Given the description of an element on the screen output the (x, y) to click on. 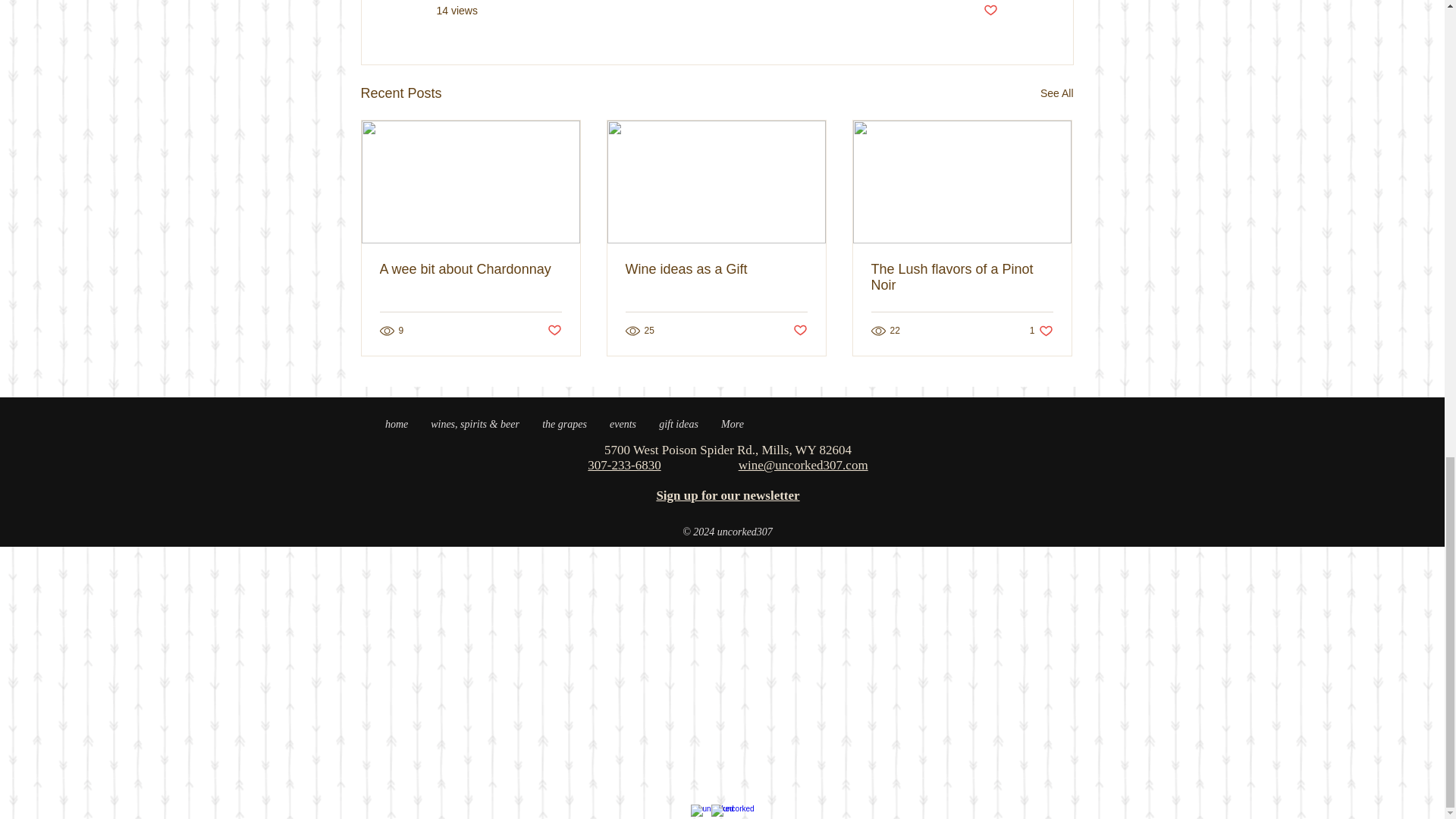
home (396, 424)
Post not marked as liked (989, 10)
307-233-6830 (624, 464)
A wee bit about Chardonnay (469, 269)
Post not marked as liked (554, 330)
Post not marked as liked (800, 330)
events (622, 424)
The Lush flavors of a Pinot Noir (961, 277)
Sign up for our newsletter (727, 495)
Wine ideas as a Gift (715, 269)
